Given the description of an element on the screen output the (x, y) to click on. 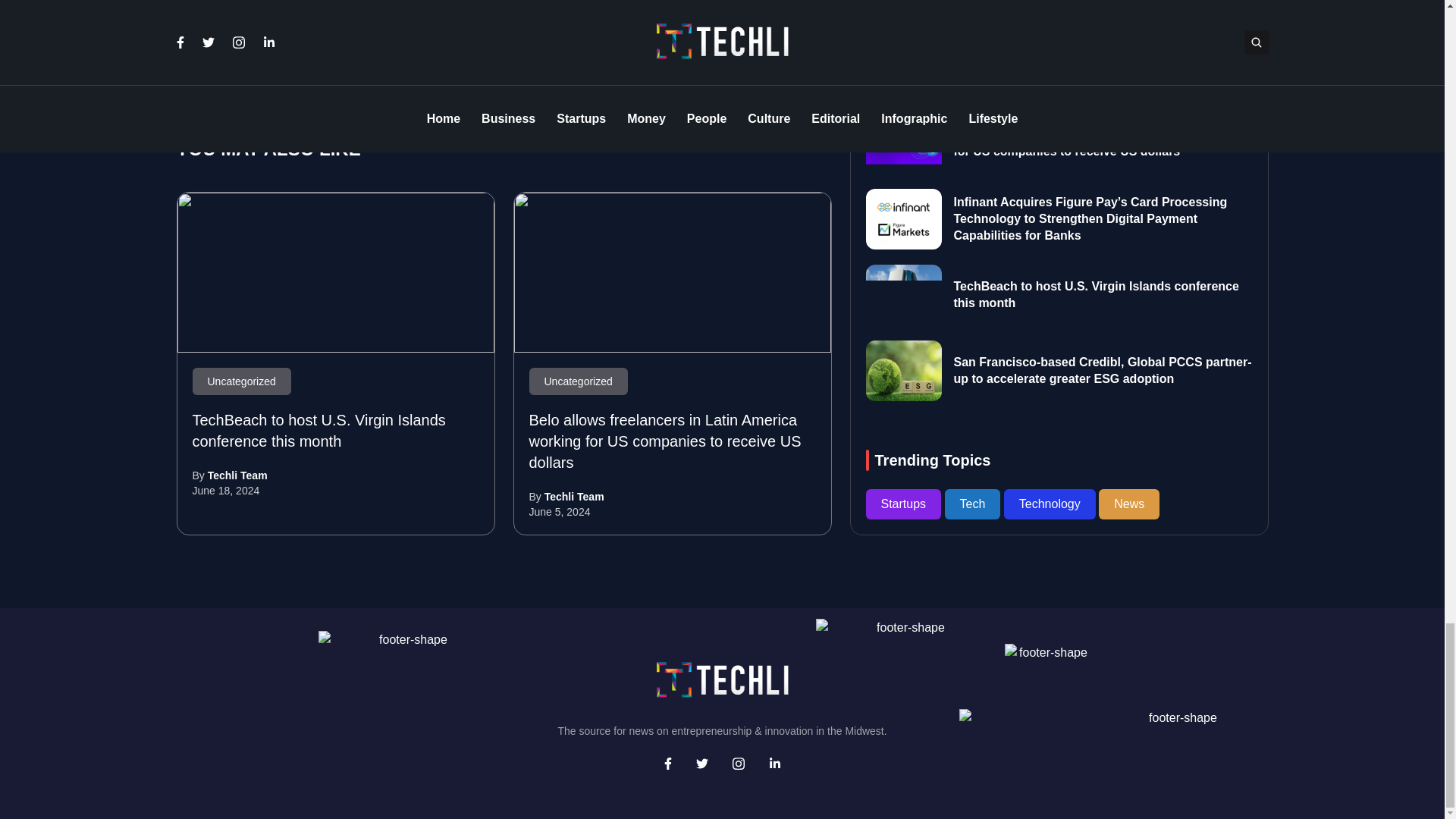
TechBeach to host U.S. Virgin Islands conference this month (336, 272)
